Given the description of an element on the screen output the (x, y) to click on. 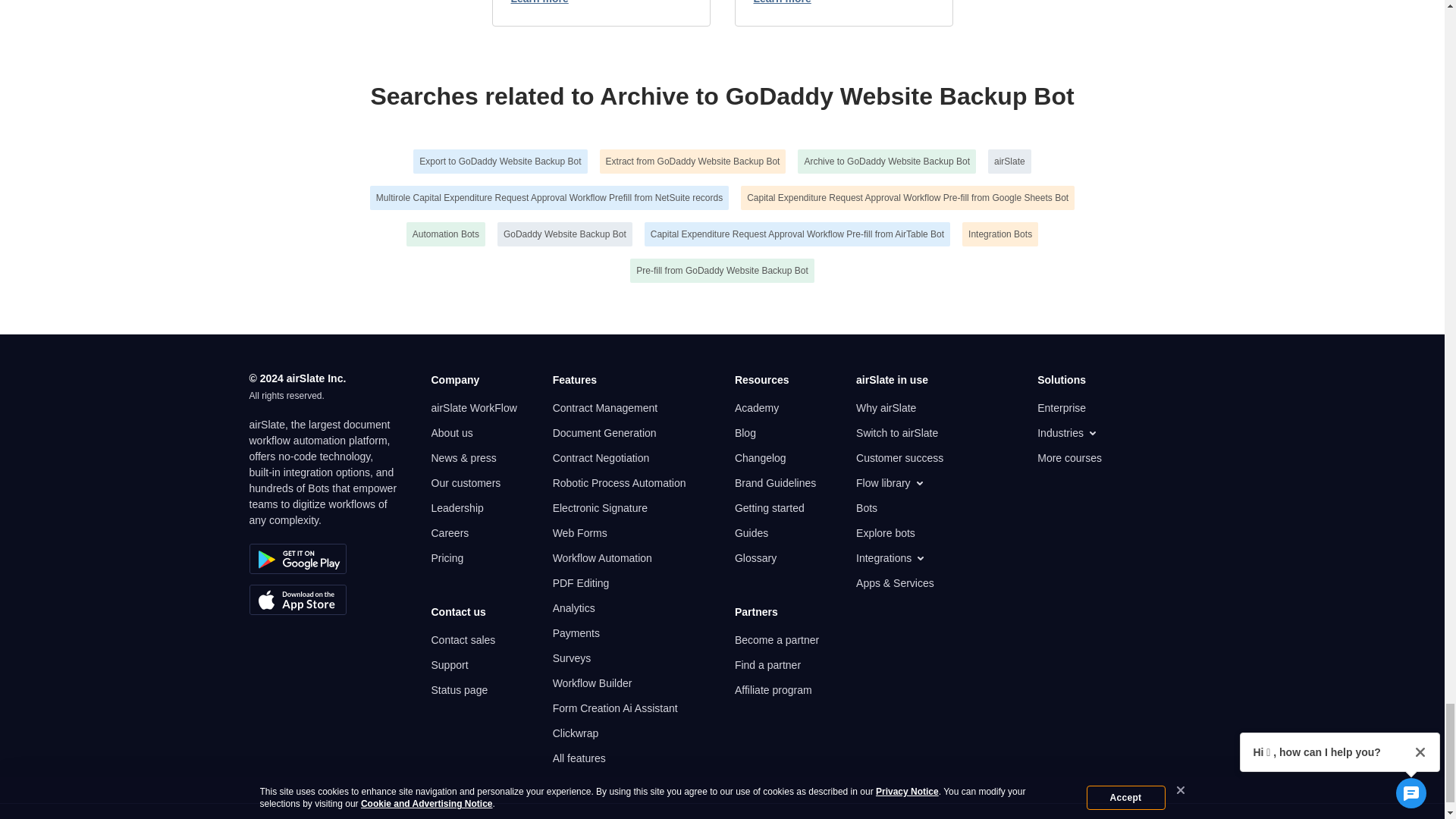
YouTube (630, 816)
Twitter (721, 816)
LinkedIn (767, 816)
Facebook (676, 816)
Instagram (812, 816)
